Given the description of an element on the screen output the (x, y) to click on. 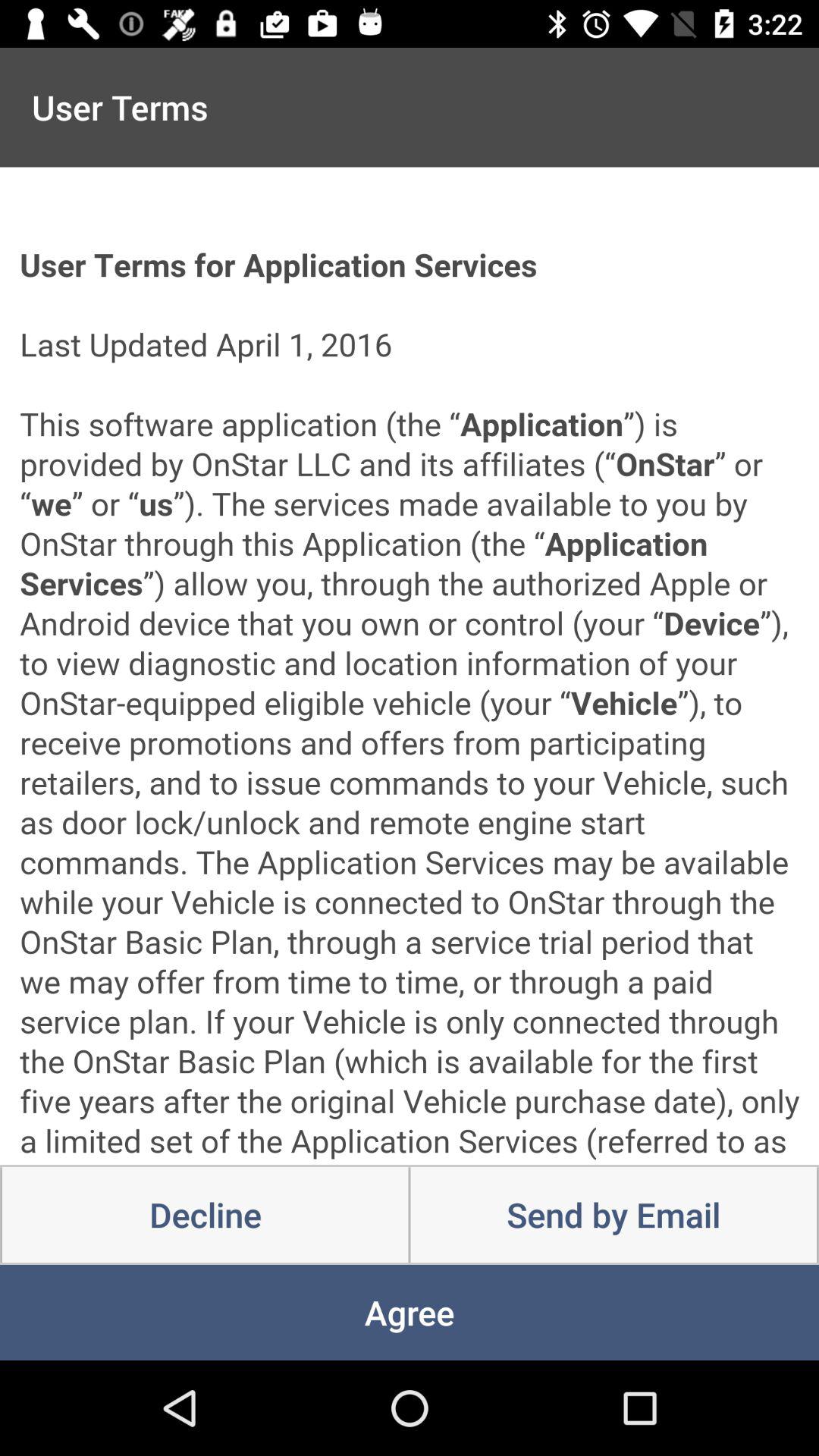
open the item at the bottom right corner (613, 1214)
